Given the description of an element on the screen output the (x, y) to click on. 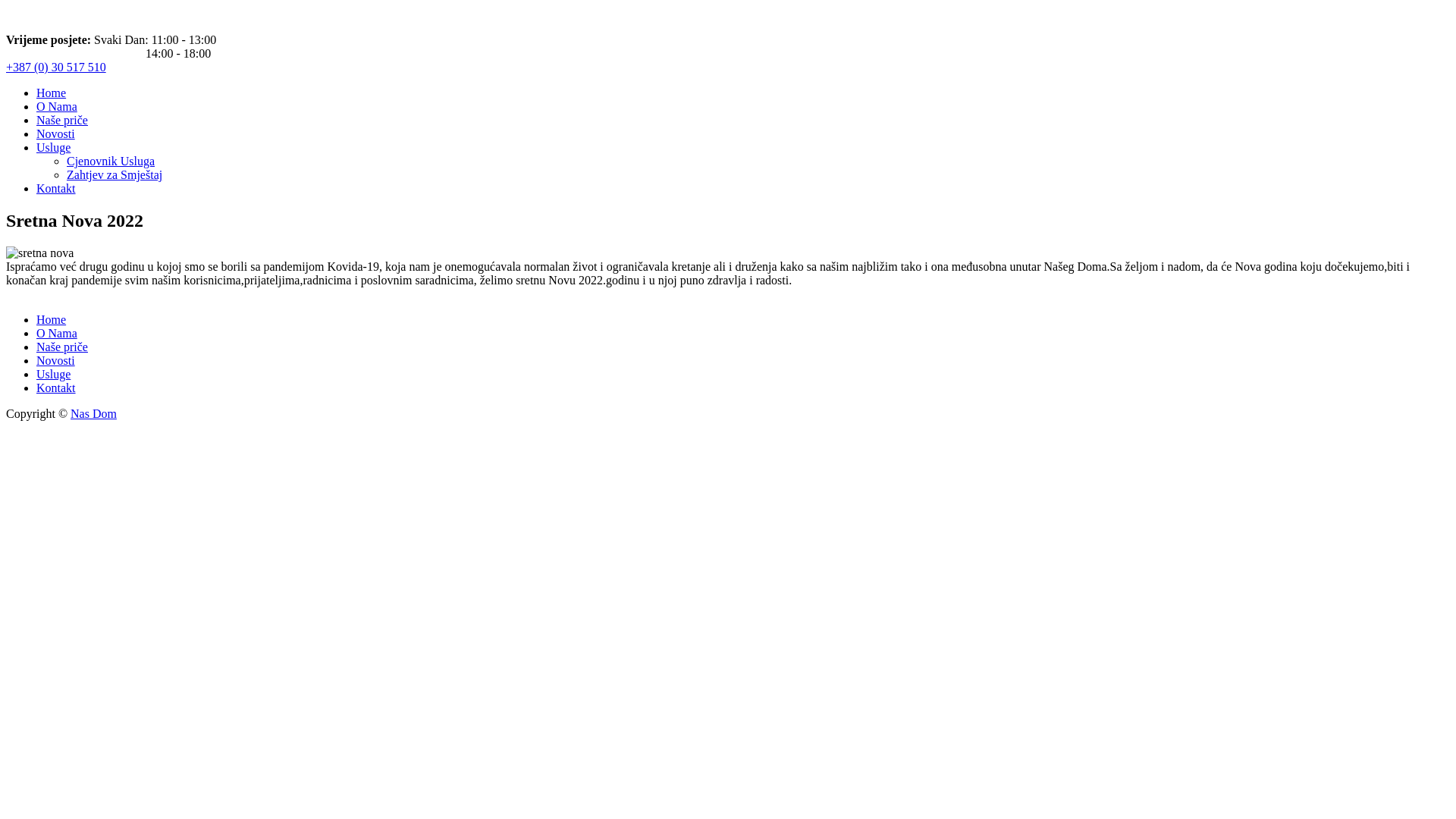
Usluge Element type: text (53, 373)
Novosti Element type: text (55, 133)
Novosti Element type: text (55, 360)
Cjenovnik Usluga Element type: text (110, 160)
O Nama Element type: text (56, 332)
O Nama Element type: text (56, 106)
Usluge Element type: text (53, 147)
Kontakt Element type: text (55, 188)
Nas Dom Element type: text (93, 413)
Home Element type: text (50, 92)
Home Element type: text (50, 319)
+387 (0) 30 517 510 Element type: text (56, 66)
Kontakt Element type: text (55, 387)
